Given the description of an element on the screen output the (x, y) to click on. 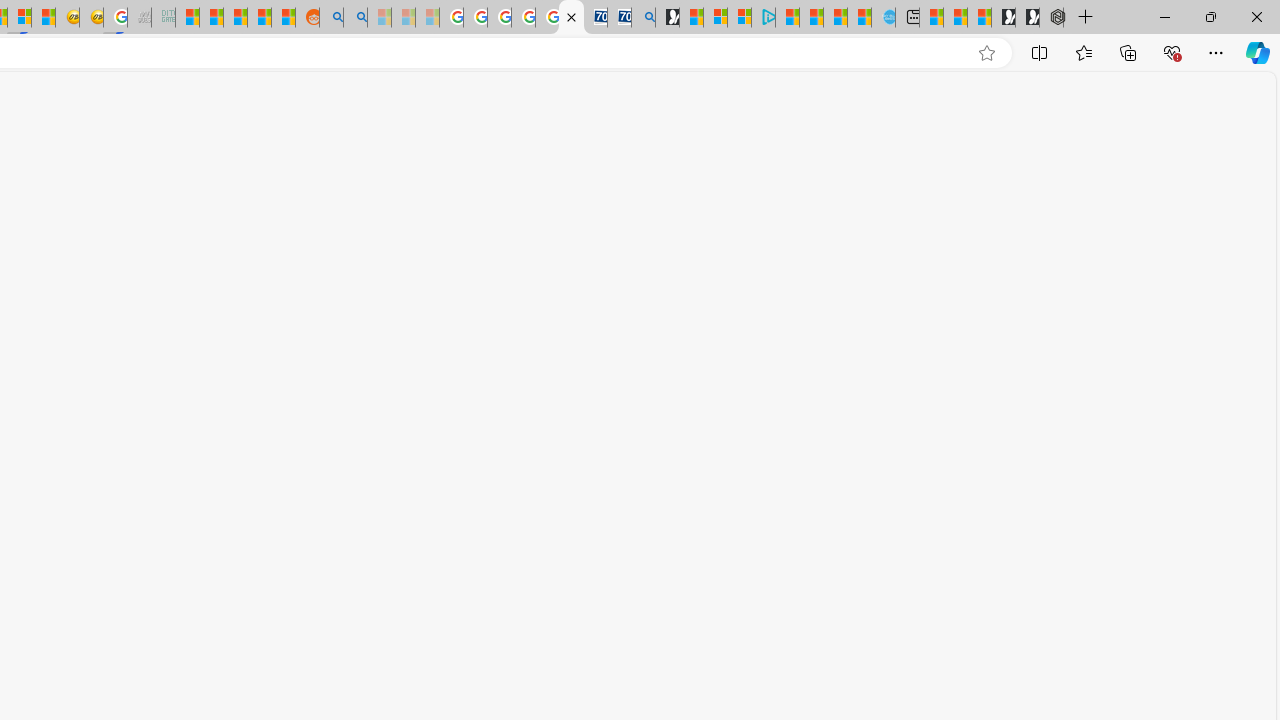
Student Loan Update: Forgiveness Program Ends This Month (259, 17)
